Given the description of an element on the screen output the (x, y) to click on. 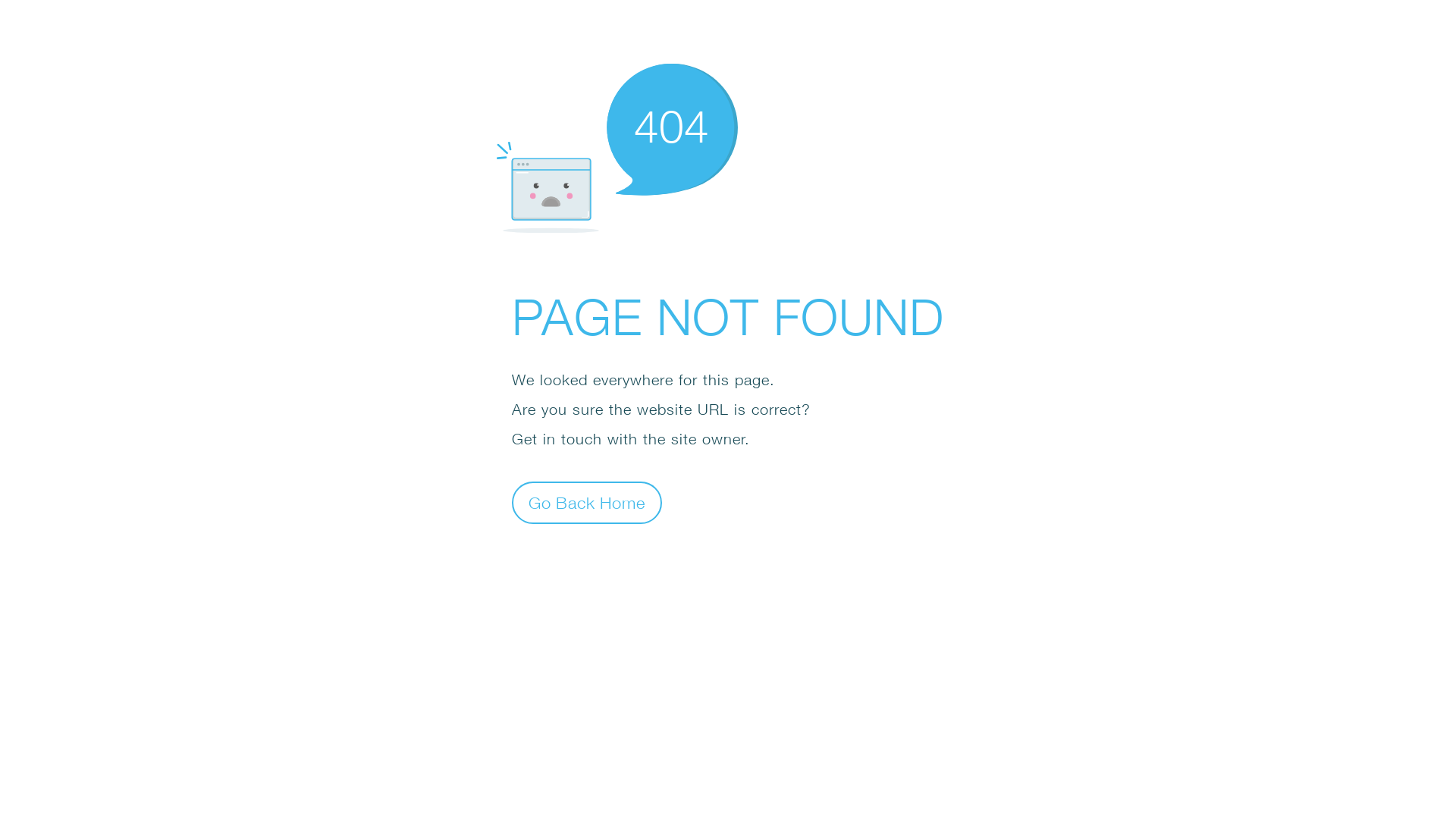
Go Back Home Element type: text (586, 502)
